Given the description of an element on the screen output the (x, y) to click on. 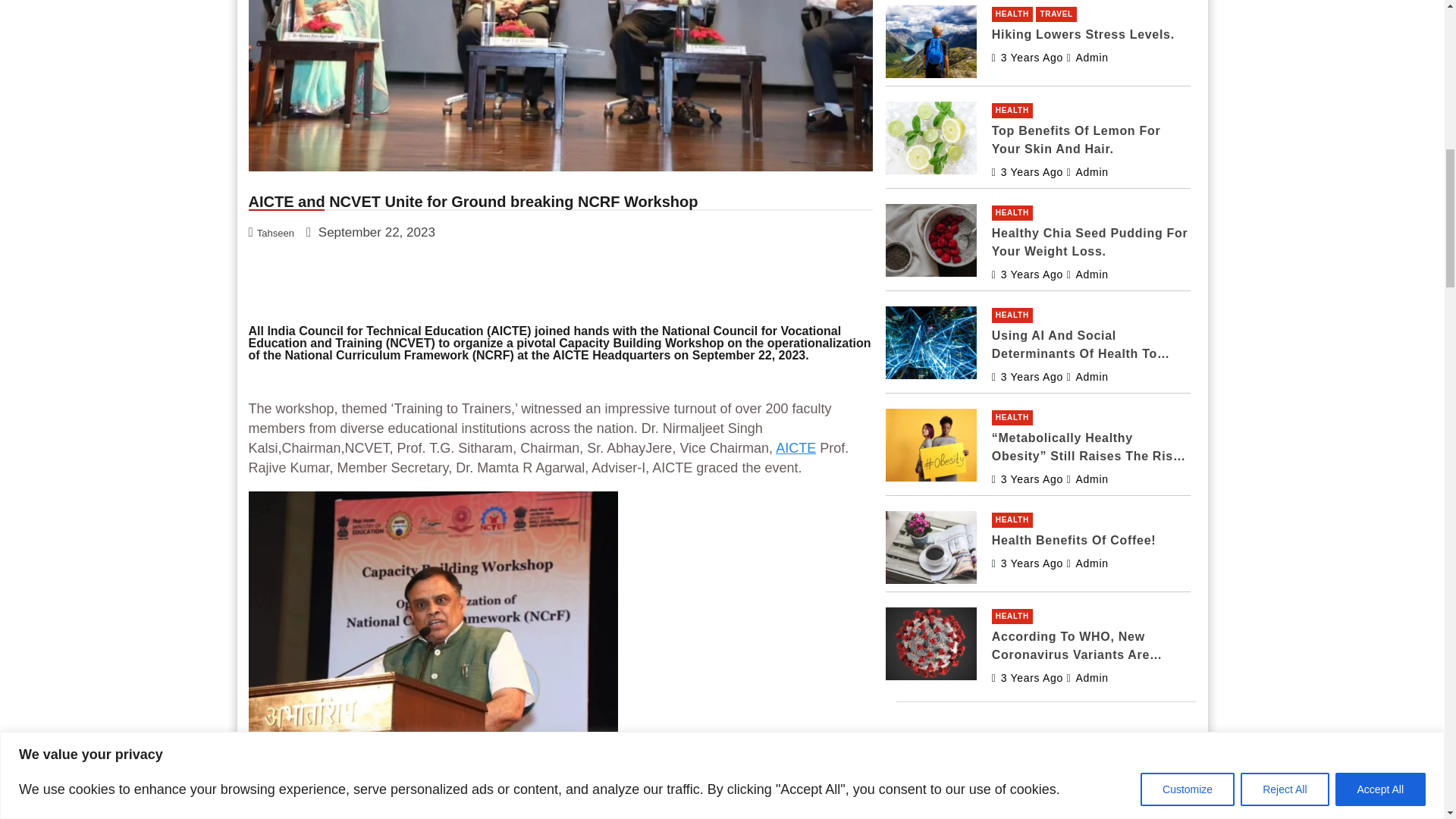
Health benefits of Coffee! (1026, 563)
Hiking lowers stress levels. (1026, 57)
Top benefits of lemon for your skin and hair. (1026, 172)
Using AI and social determinants of health to identify risk. (1026, 377)
Healthy Chia seed pudding for your weight loss. (1026, 274)
